Given the description of an element on the screen output the (x, y) to click on. 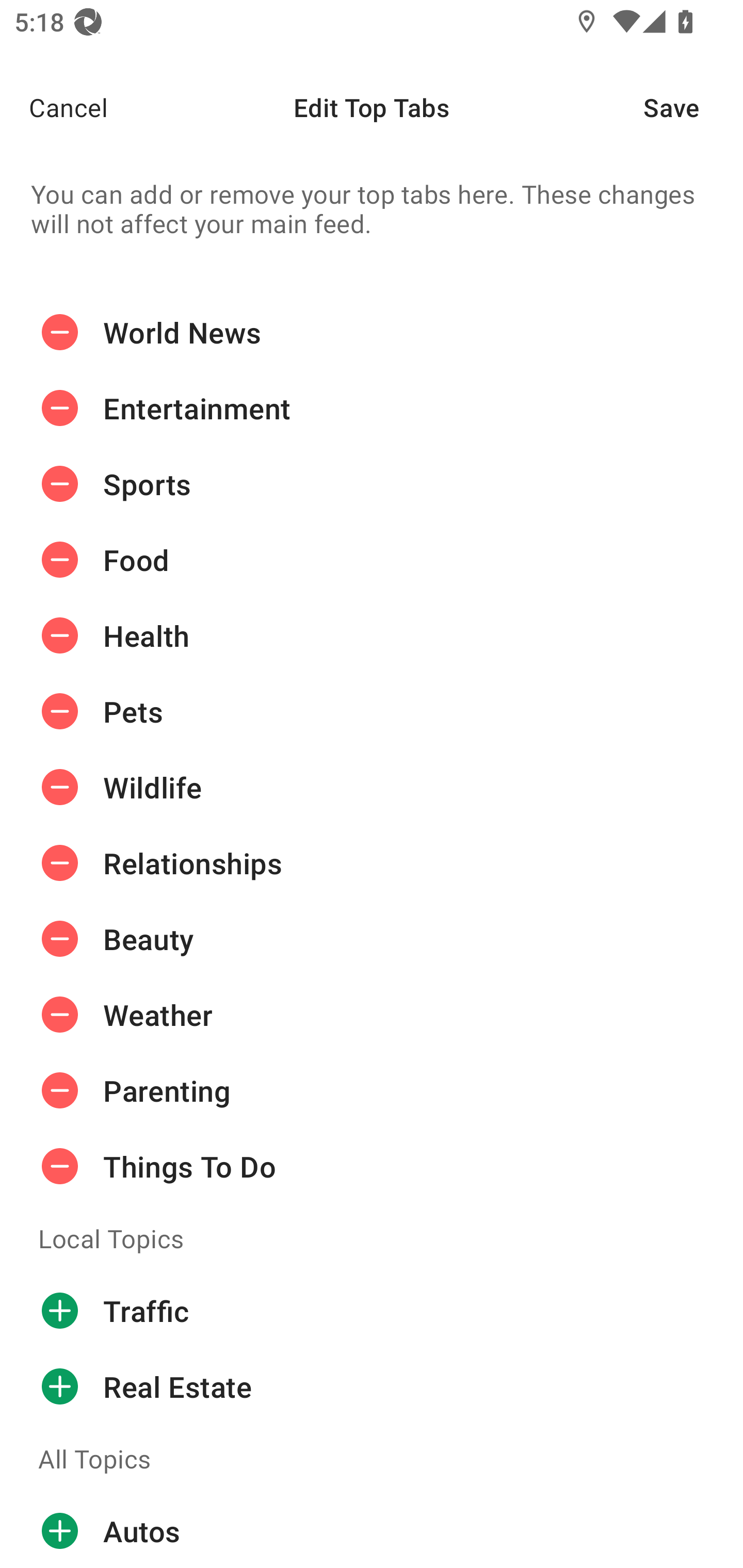
Cancel (53, 106)
Save (693, 106)
World News (371, 332)
Entertainment (371, 408)
Sports (371, 484)
Food (371, 559)
Health (371, 635)
Pets (371, 711)
Wildlife (371, 786)
Relationships (371, 862)
Beauty (371, 938)
Weather (371, 1014)
Parenting (371, 1090)
Things To Do (371, 1166)
Traffic (371, 1310)
Real Estate (371, 1386)
Autos (371, 1530)
